Given the description of an element on the screen output the (x, y) to click on. 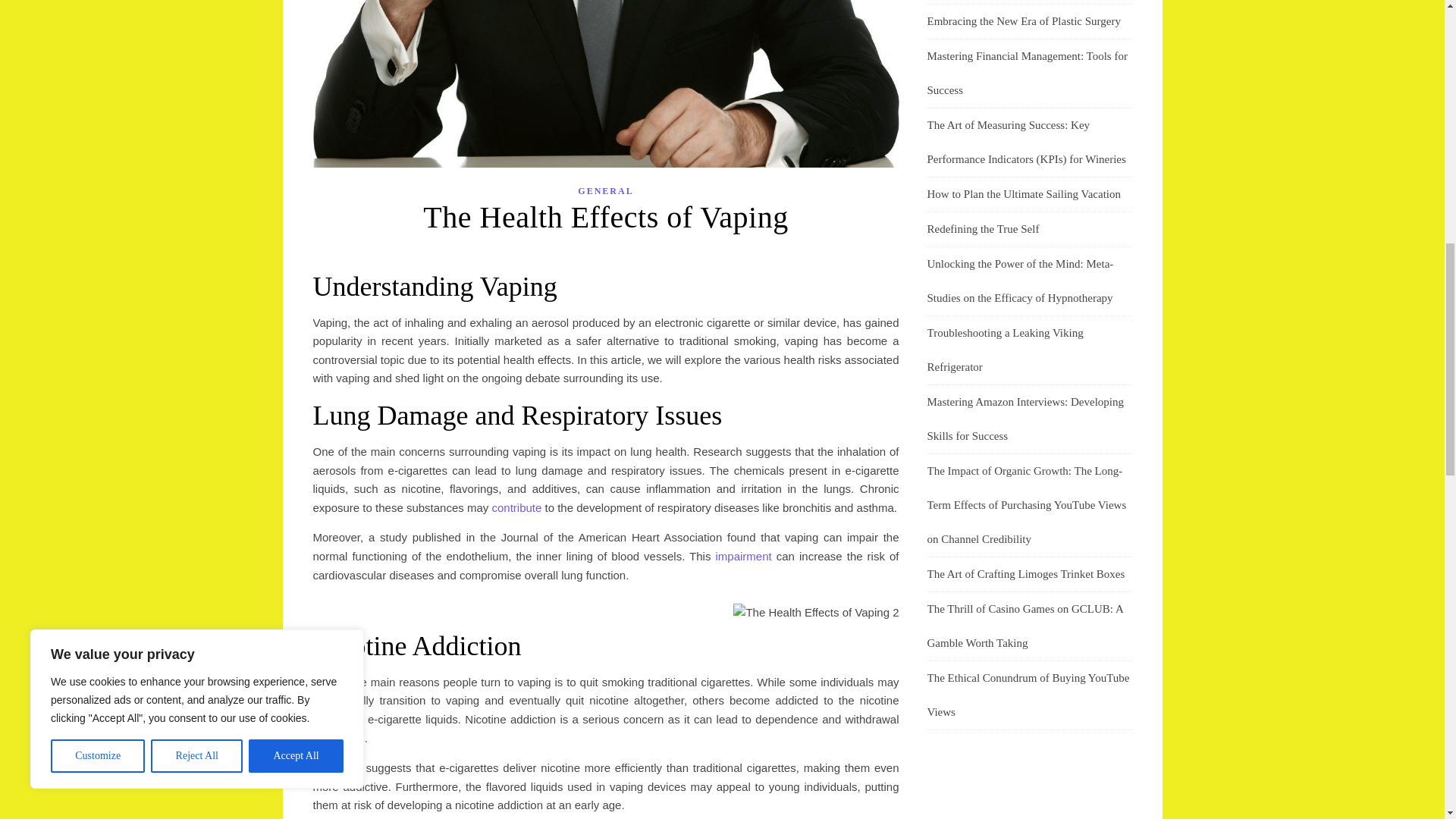
GENERAL (605, 190)
impairment (742, 555)
contribute (516, 507)
